Given the description of an element on the screen output the (x, y) to click on. 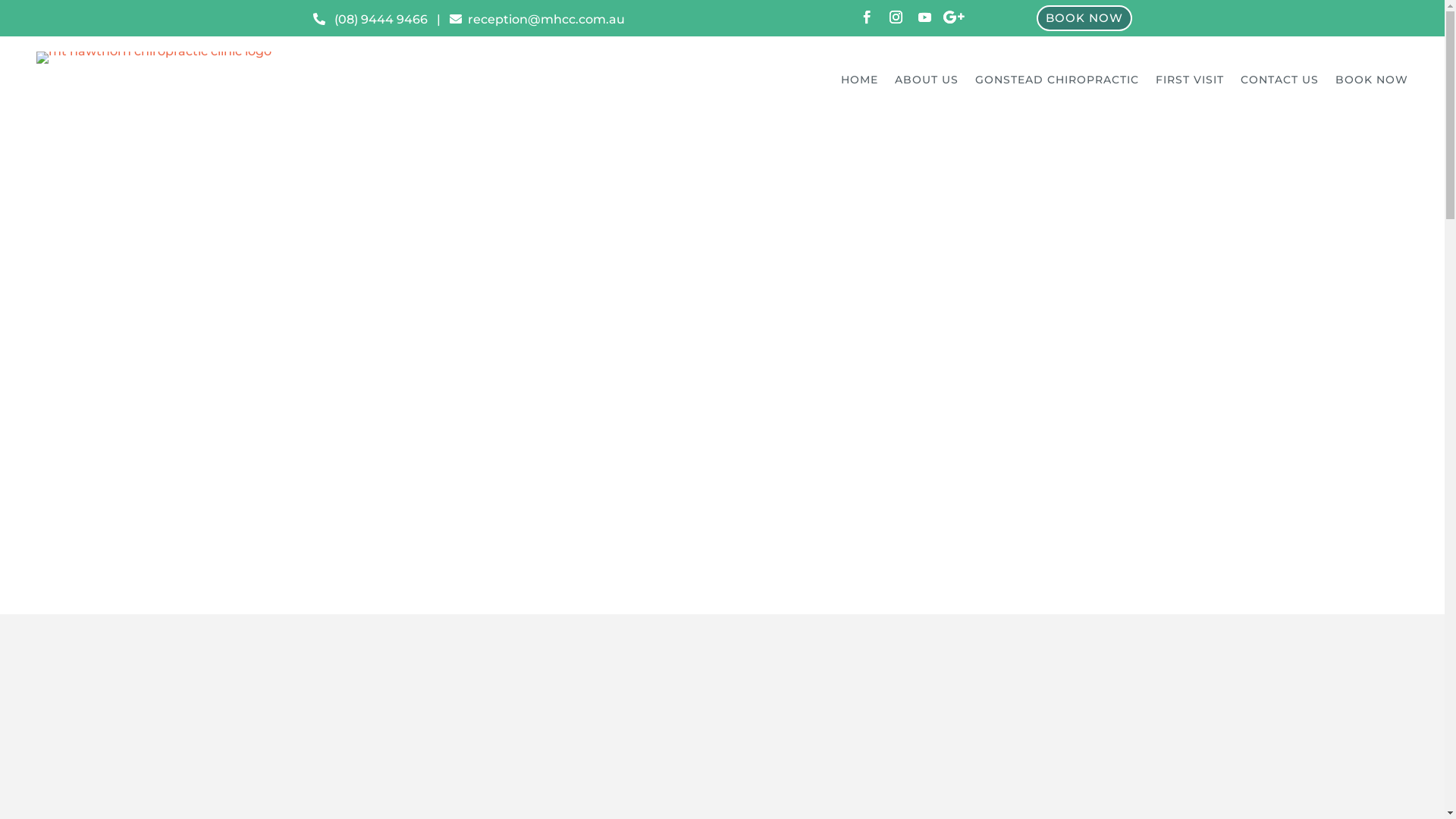
BOOK NOW Element type: text (1371, 82)
Follow on Google+ Element type: hover (953, 17)
Follow on Instagram Element type: hover (895, 17)
logo3 Element type: hover (153, 57)
  (08) 9444 9466 Element type: text (369, 19)
ABOUT US Element type: text (926, 82)
HOME Element type: text (859, 82)
CONTACT US Element type: text (1279, 82)
BOOK NOW Element type: text (1083, 18)
Follow on Facebook Element type: hover (866, 17)
  reception@mhcc.com.au Element type: text (536, 19)
FIRST VISIT Element type: text (1189, 82)
GONSTEAD CHIROPRACTIC Element type: text (1057, 82)
Follow on Youtube Element type: hover (924, 17)
